Given the description of an element on the screen output the (x, y) to click on. 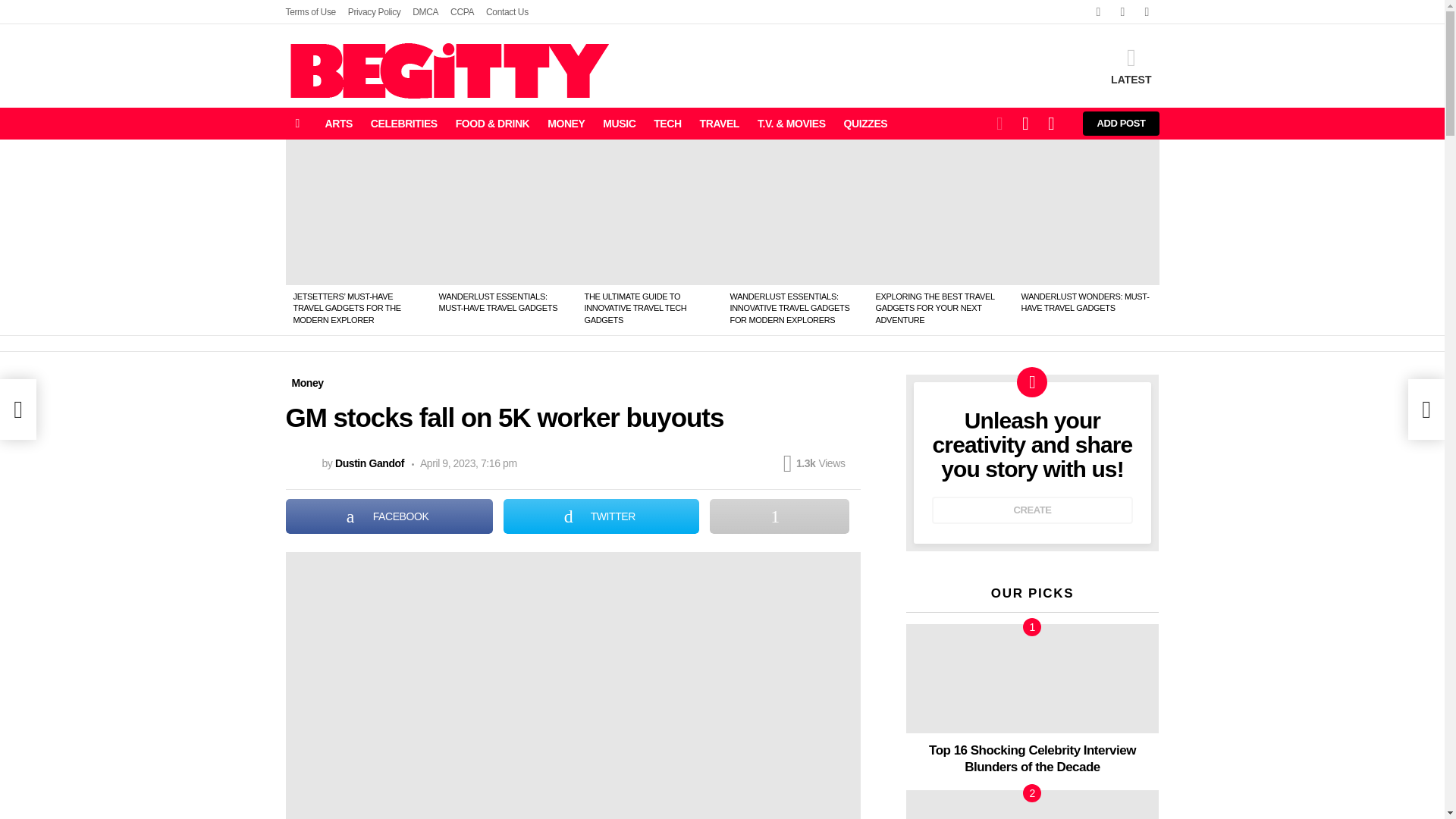
LATEST (1130, 65)
MUSIC (619, 123)
Menu (296, 123)
Privacy Policy (374, 12)
CCPA (461, 12)
QUIZZES (865, 123)
Wanderlust Essentials: Must-Have Travel Gadgets (503, 212)
instagram (1146, 11)
DMCA (425, 12)
